Given the description of an element on the screen output the (x, y) to click on. 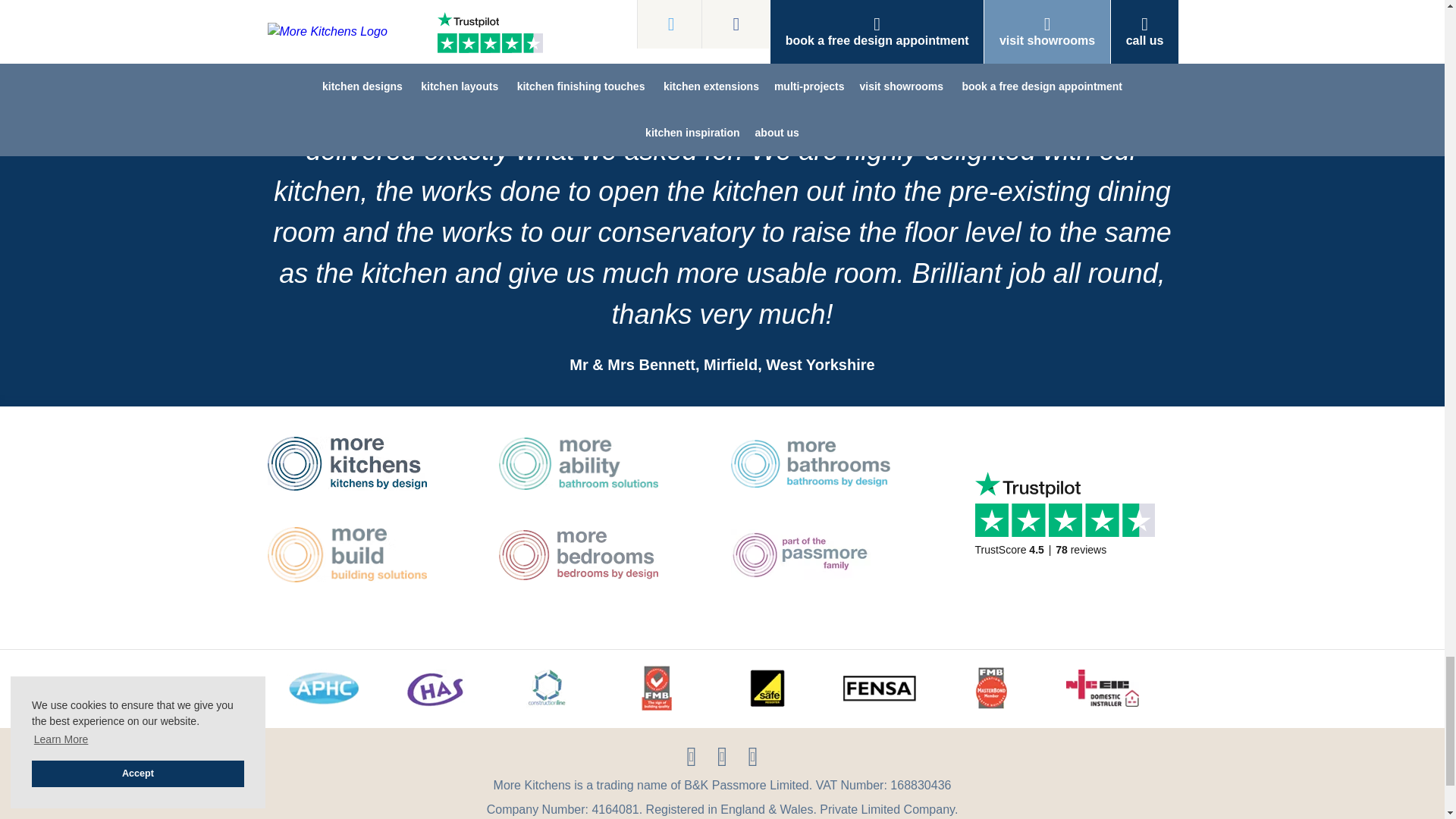
Customer reviews powered by Trustpilot (1069, 527)
